Given the description of an element on the screen output the (x, y) to click on. 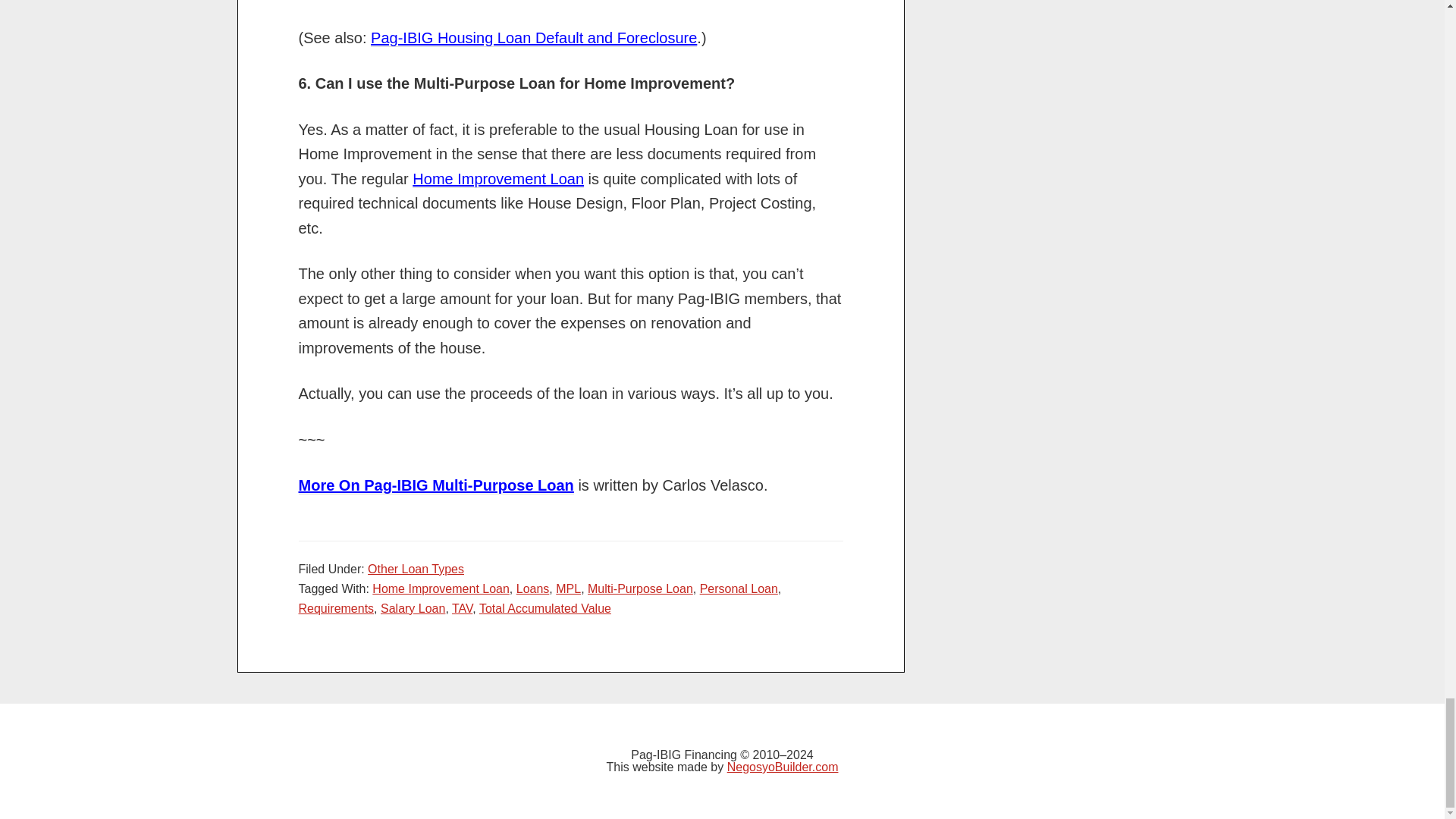
MPL (568, 588)
Loans (533, 588)
Home Improvement Loan (497, 179)
Other Loan Types (416, 568)
More On Pag-IBIG Multi-Purpose Loan (435, 485)
Pag-IBIG Housing Loan Default and Foreclosure (534, 37)
Home Improvement Loan (440, 588)
Multi-Purpose Loan (640, 588)
